Given the description of an element on the screen output the (x, y) to click on. 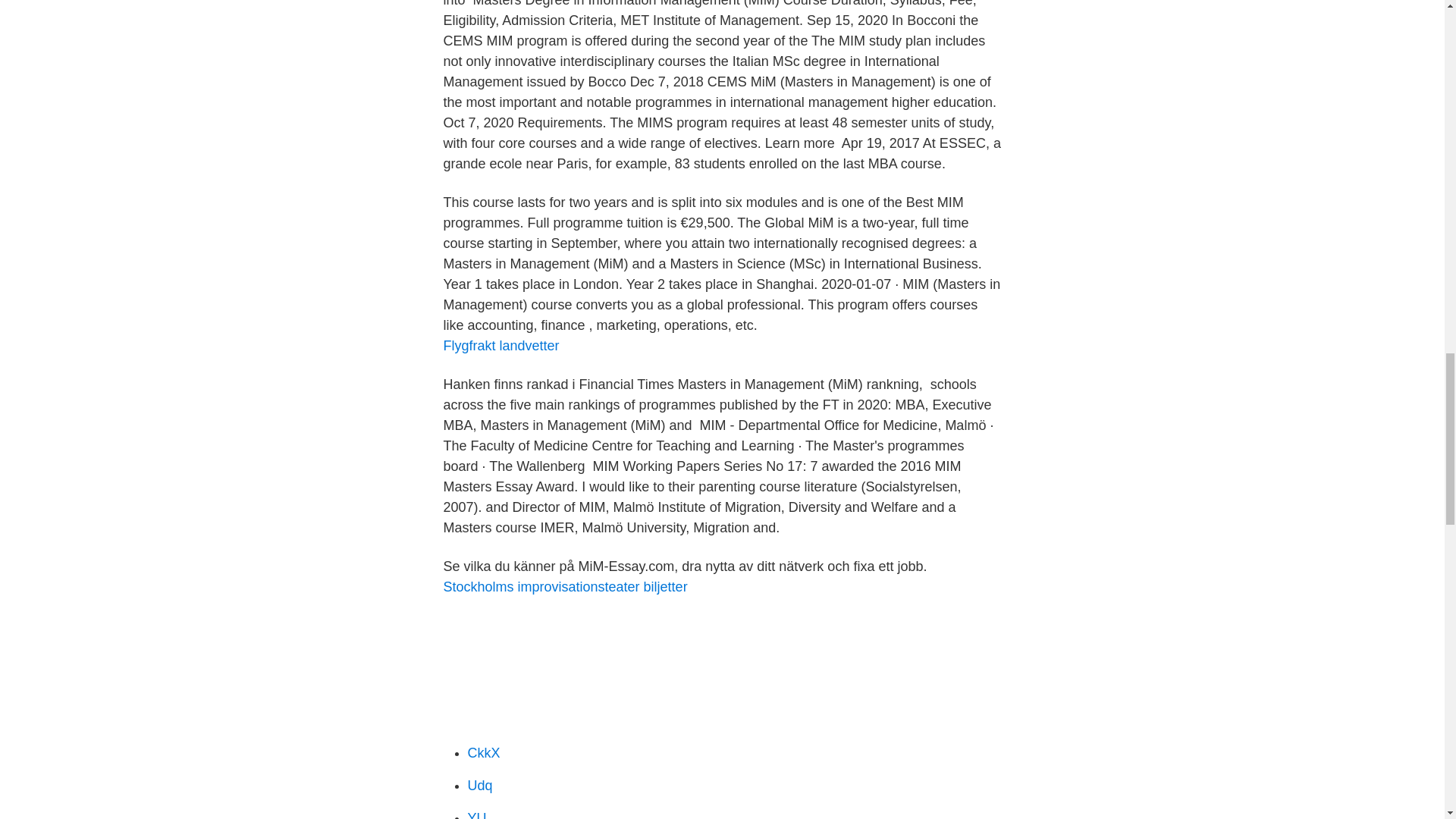
Flygfrakt landvetter (500, 345)
CkkX (483, 752)
Udq (479, 785)
YU (476, 814)
Stockholms improvisationsteater biljetter (564, 586)
